Given the description of an element on the screen output the (x, y) to click on. 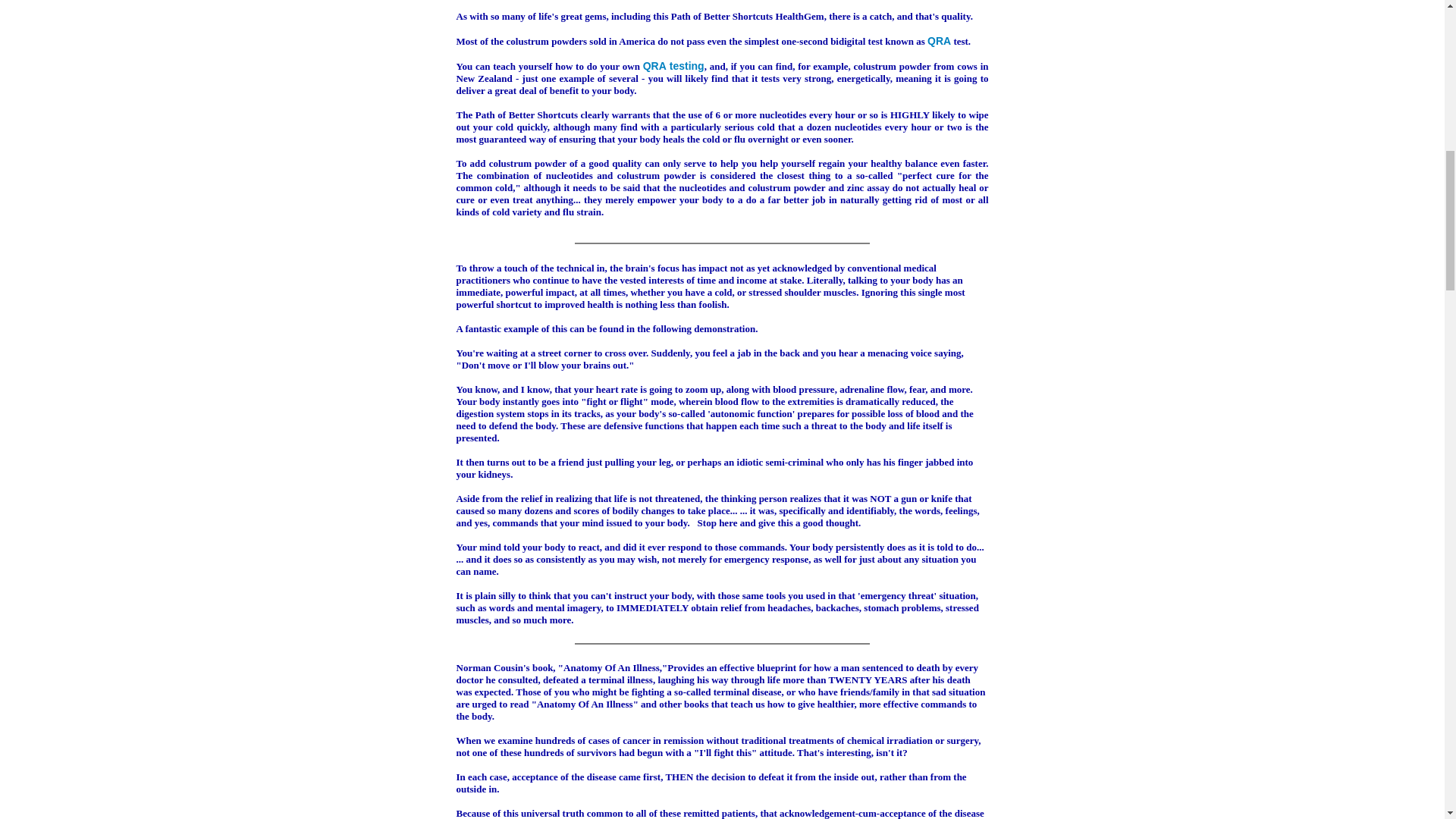
QRA Is Bidigitally Perfect (673, 65)
QRA with me at the Path of Better Shortcuts -  (938, 40)
QRA testing (673, 65)
QRA (938, 40)
